Given the description of an element on the screen output the (x, y) to click on. 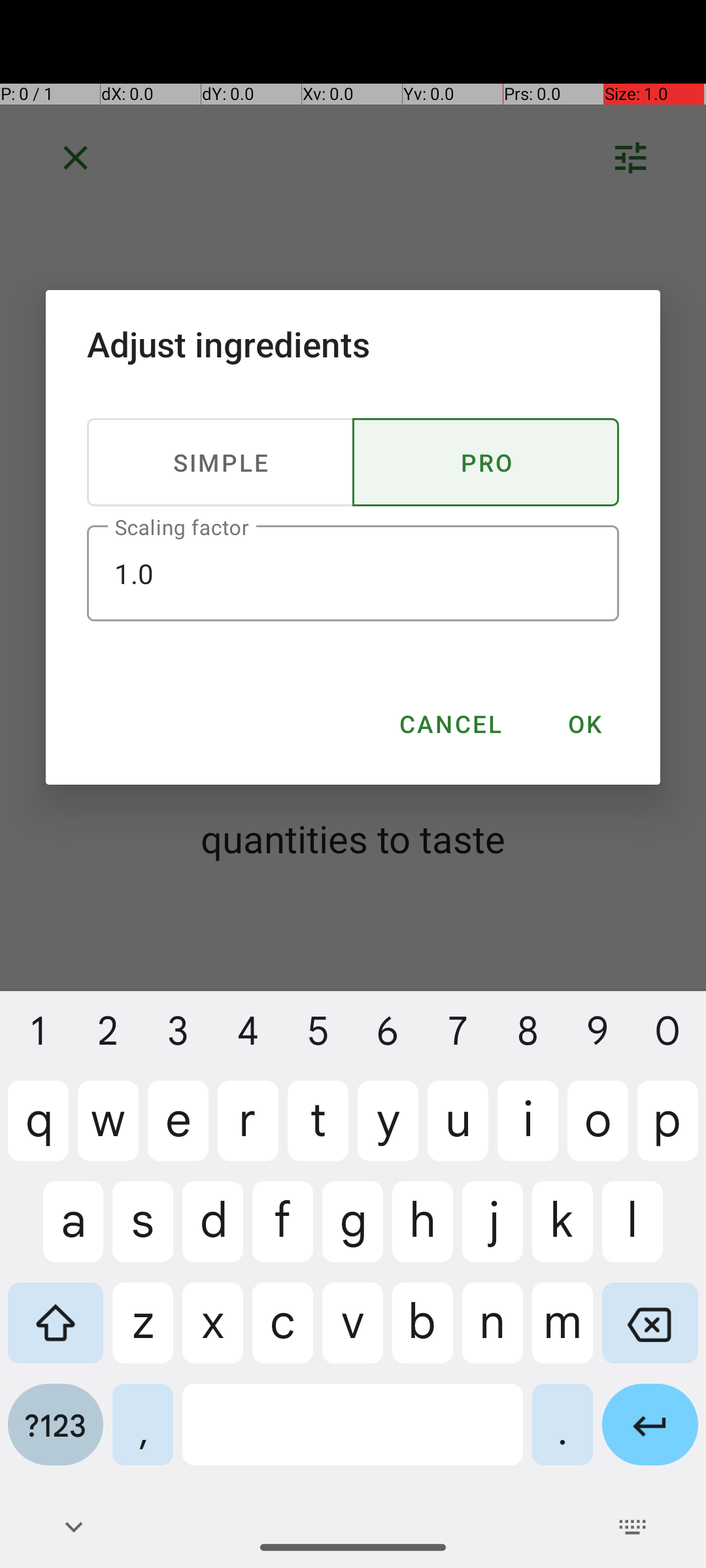
1.0 Element type: android.widget.EditText (352, 573)
